Given the description of an element on the screen output the (x, y) to click on. 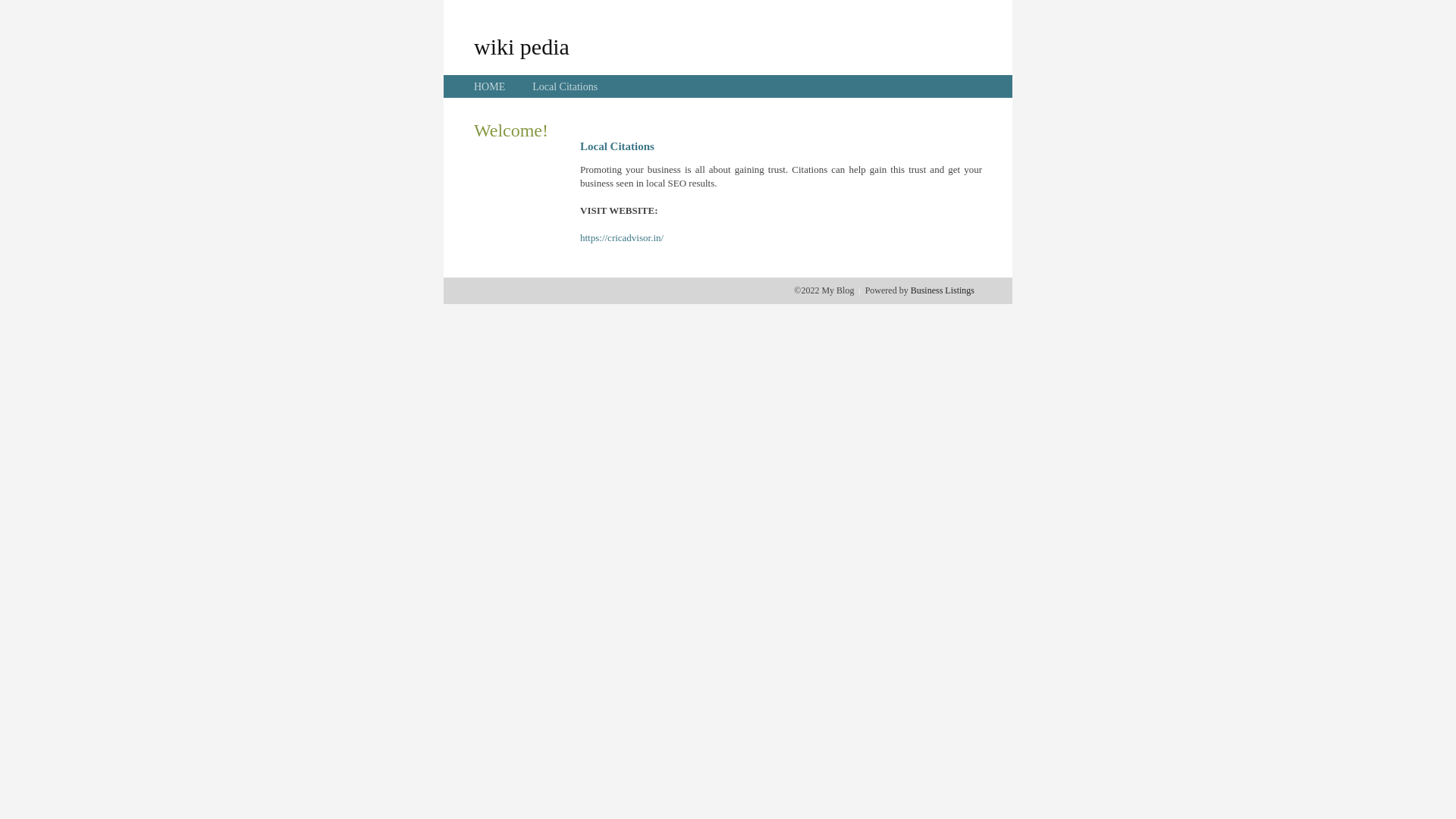
https://cricadvisor.in/ Element type: text (621, 237)
Local Citations Element type: text (564, 86)
wiki pedia Element type: text (521, 46)
HOME Element type: text (489, 86)
Business Listings Element type: text (942, 290)
